Given the description of an element on the screen output the (x, y) to click on. 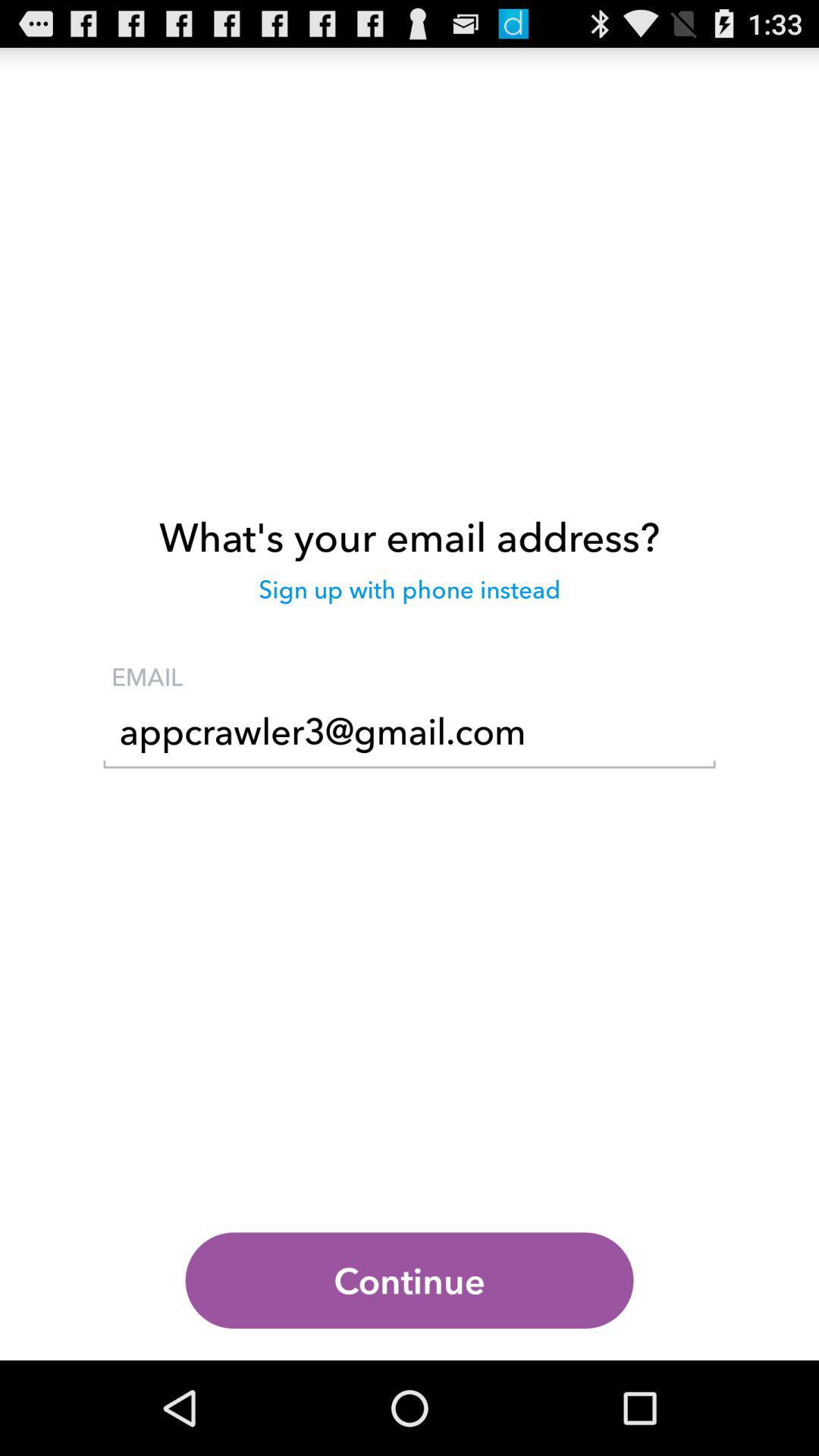
select the sign up with icon (409, 597)
